Given the description of an element on the screen output the (x, y) to click on. 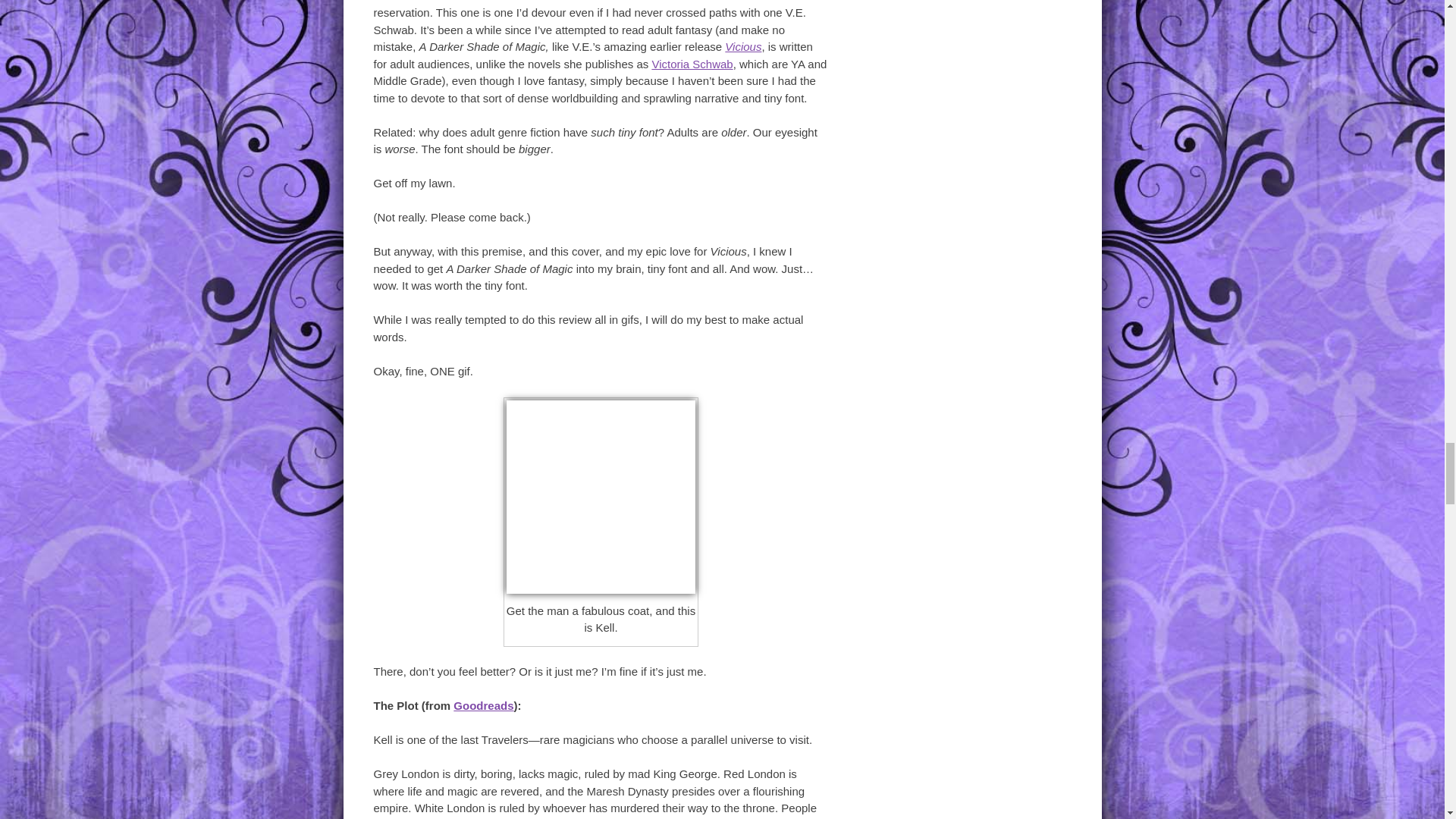
Lee Pace (600, 496)
